Given the description of an element on the screen output the (x, y) to click on. 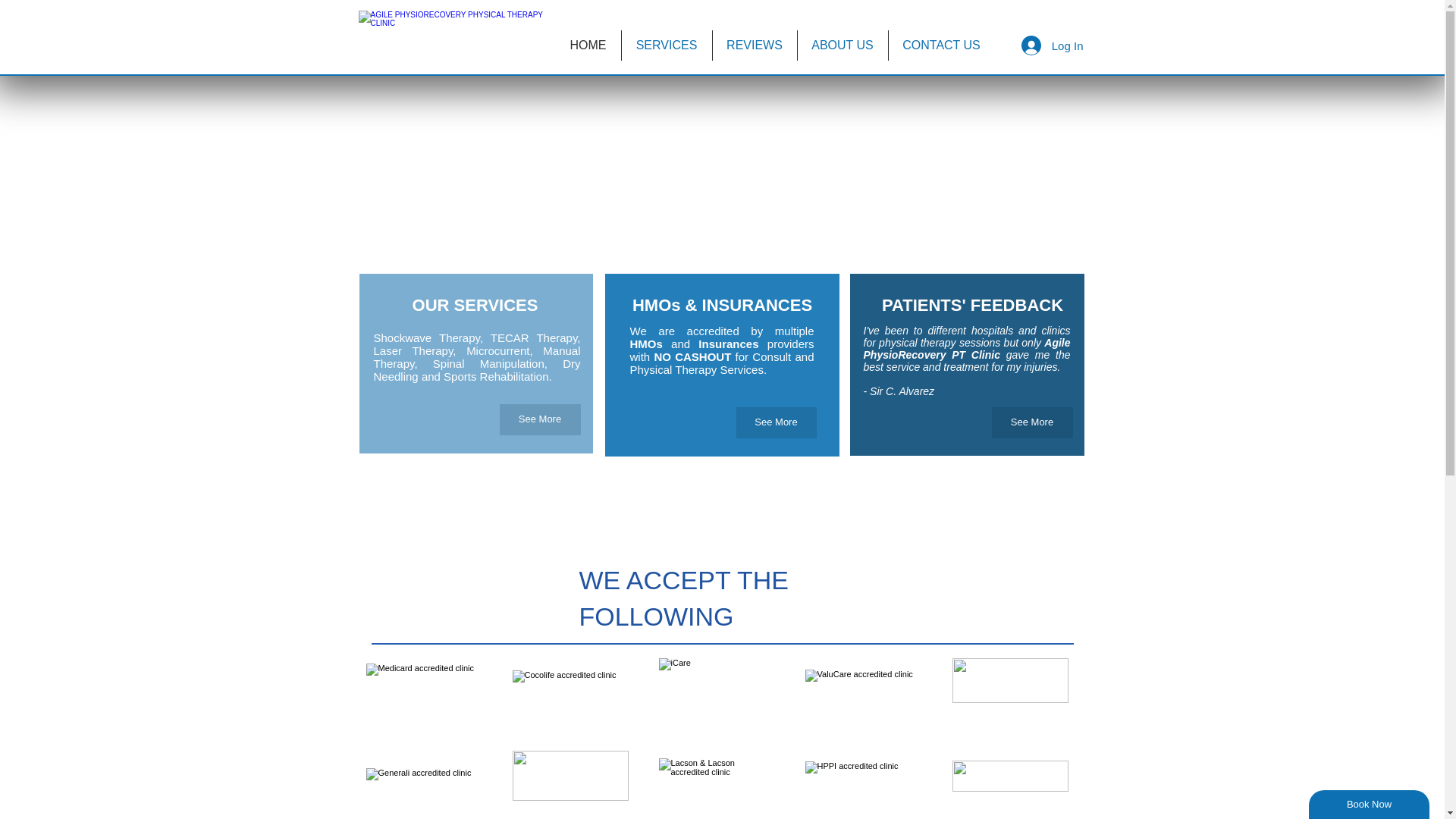
Book Now (1368, 804)
HOME (587, 45)
See More (775, 422)
ABOUT US (842, 45)
Log In (1052, 45)
SERVICES (666, 45)
See More (1032, 422)
See More (539, 419)
REVIEWS (754, 45)
CONTACT US (941, 45)
